Given the description of an element on the screen output the (x, y) to click on. 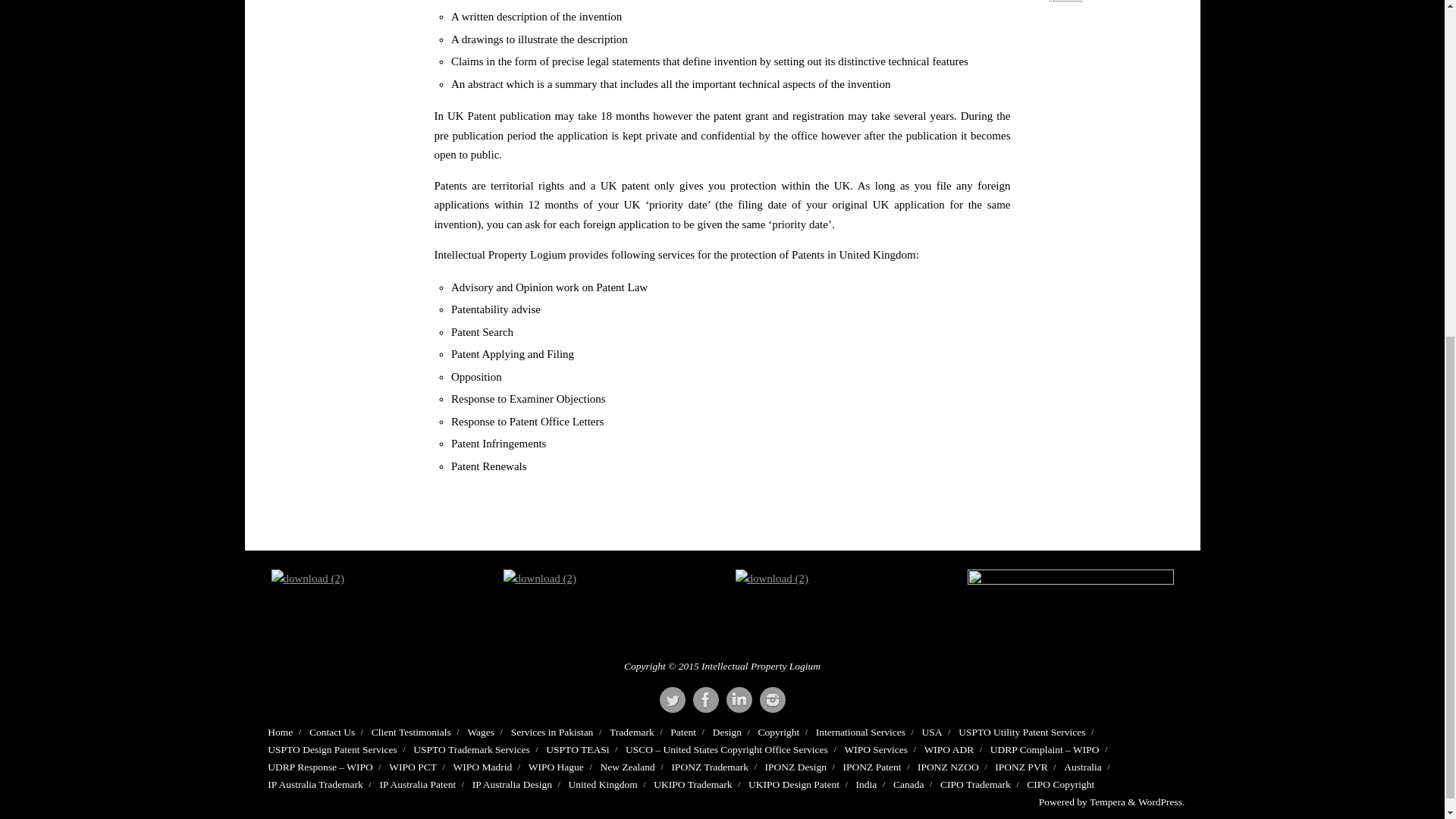
Mahmood Ur Rahman Chaudhry (739, 699)
Semantic Personal Publishing Platform (1161, 801)
Intellectual Property Logium (706, 699)
Intellectual Property Logium (672, 699)
Intellectual Property Logium (773, 699)
Tempera Theme by Cryout Creations (1107, 801)
